Given the description of an element on the screen output the (x, y) to click on. 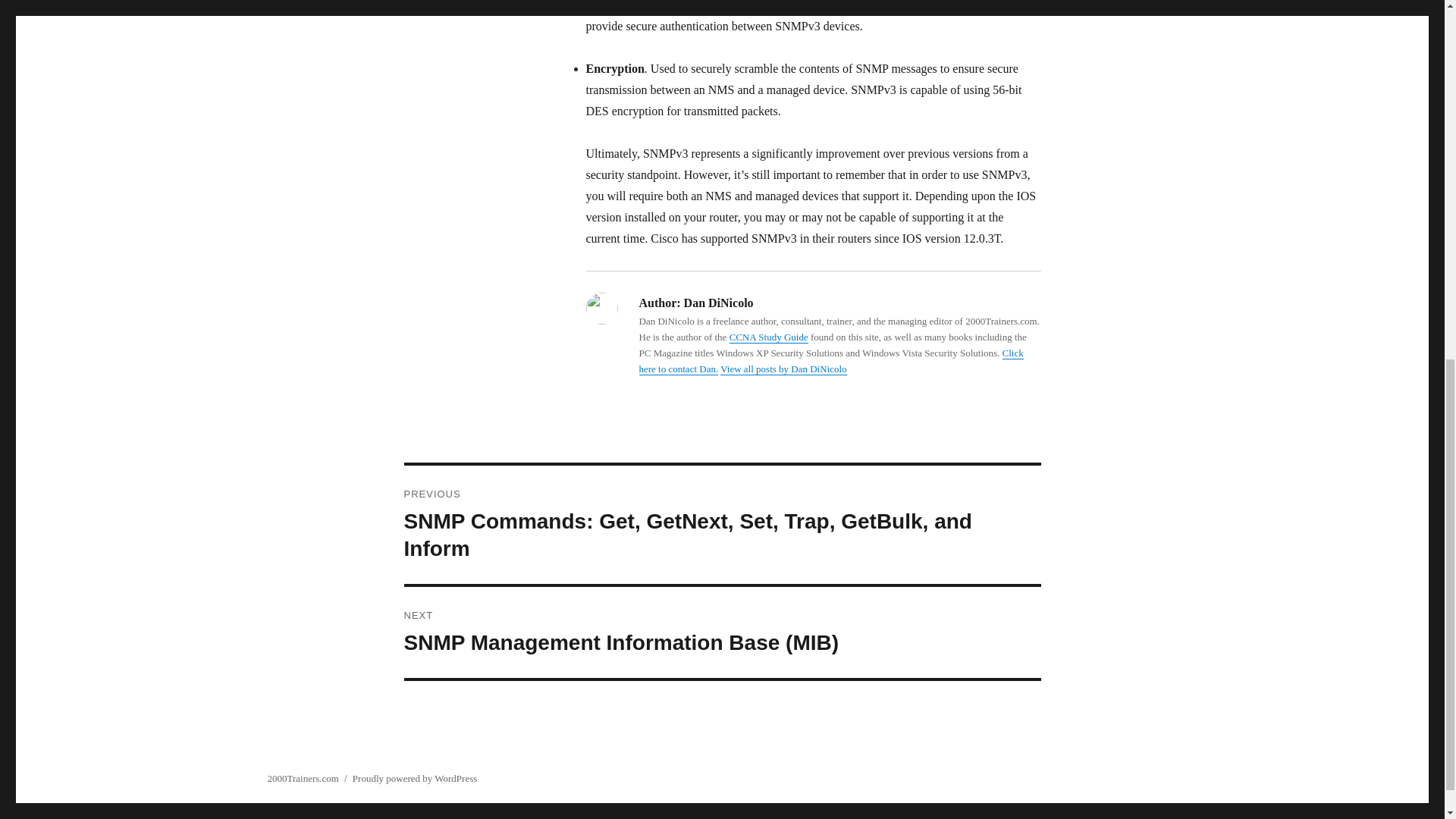
CCNA Study Guide (768, 337)
Proudly powered by WordPress (414, 778)
2000Trainers.com (302, 778)
Click here to contact Dan. (831, 360)
View all posts by Dan DiNicolo (782, 368)
